Given the description of an element on the screen output the (x, y) to click on. 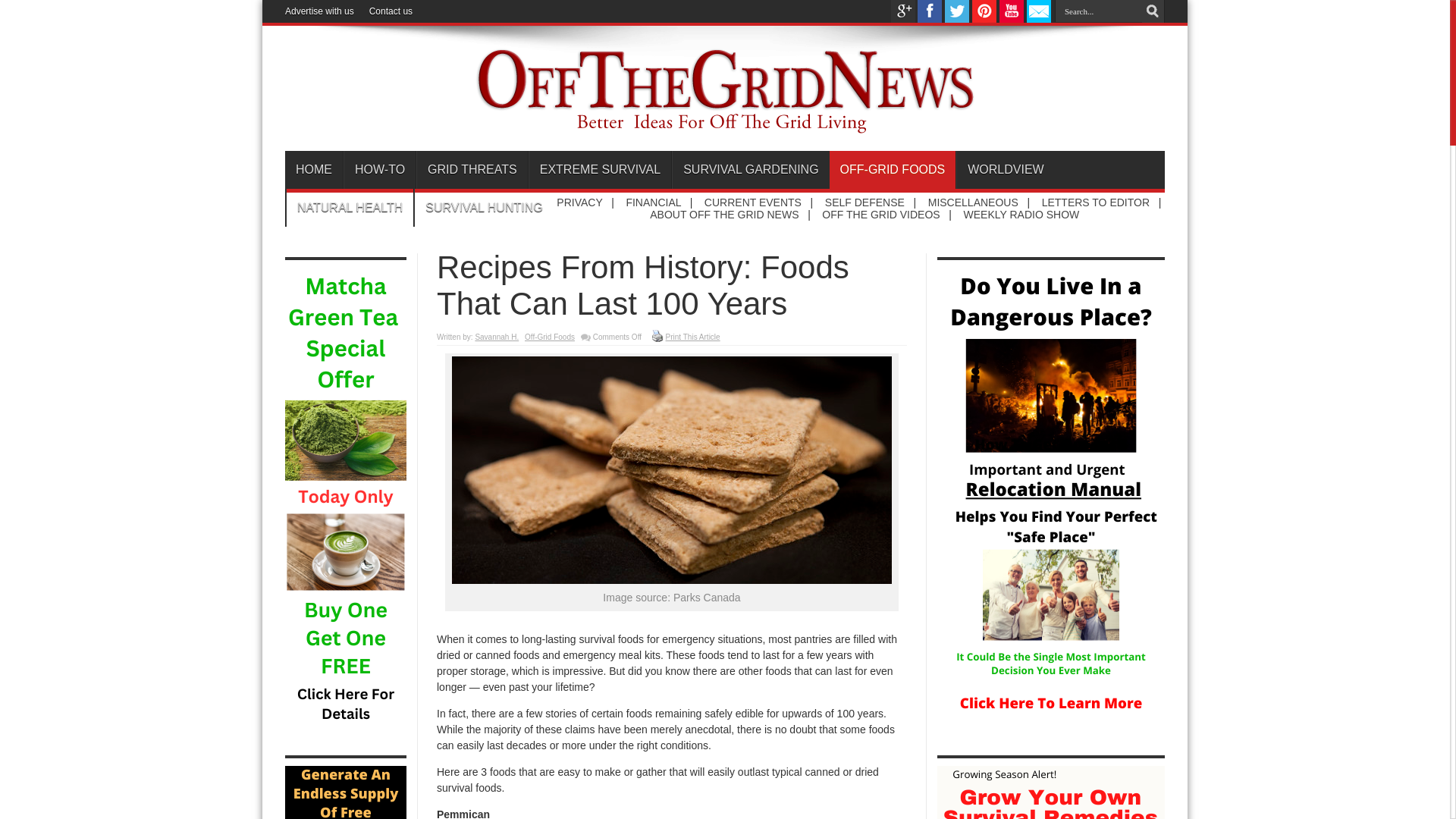
Print This Article (656, 336)
Send an email to Off The Grid News (1038, 19)
HOW-TO (378, 169)
NATURAL HEALTH (349, 207)
HOME (313, 169)
SURVIVAL GARDENING (749, 169)
GRID THREATS (471, 169)
Off-Grid Foods (549, 336)
Search... (1097, 11)
Contact us (390, 11)
